Given the description of an element on the screen output the (x, y) to click on. 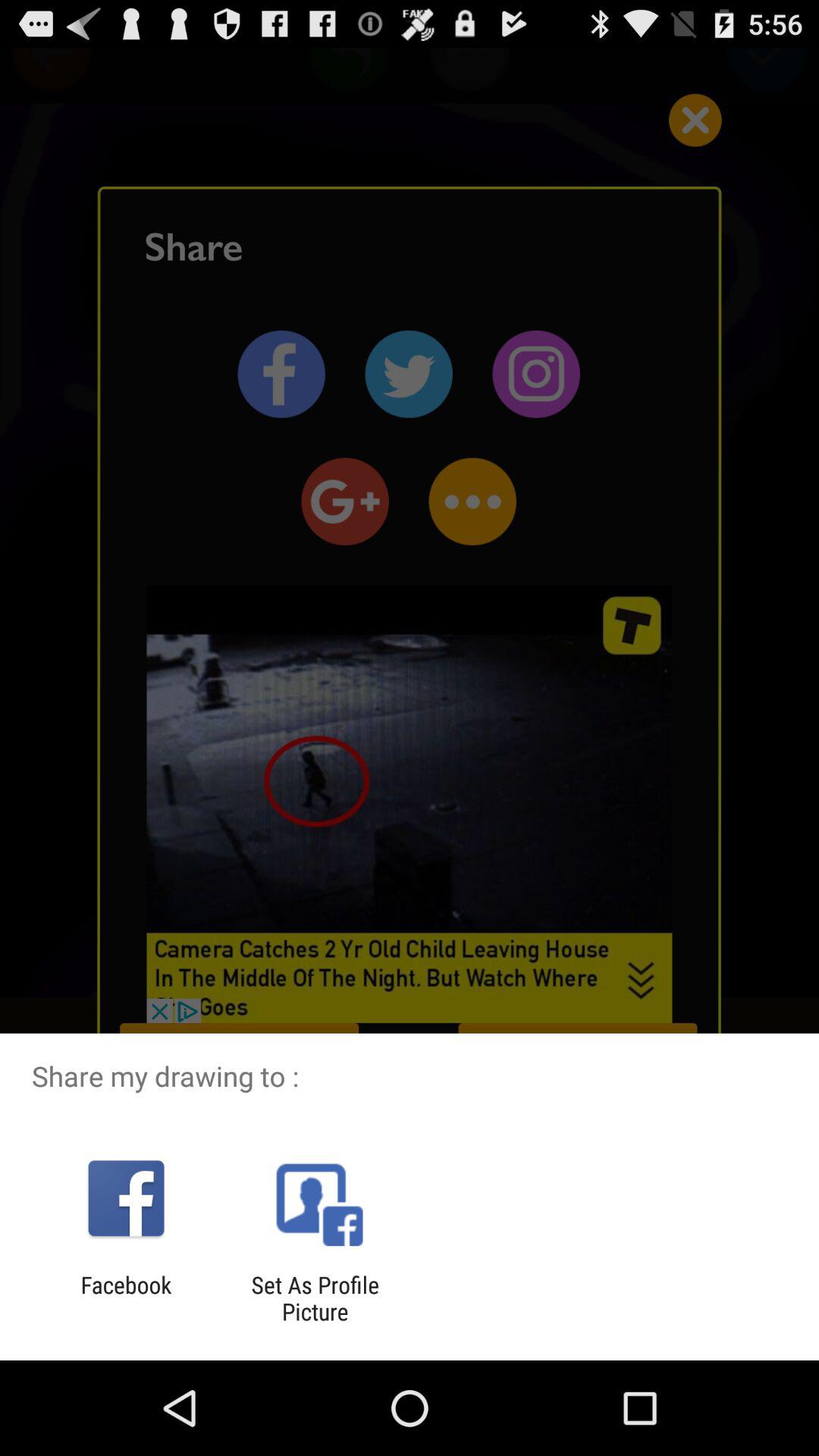
tap the set as profile app (314, 1298)
